Given the description of an element on the screen output the (x, y) to click on. 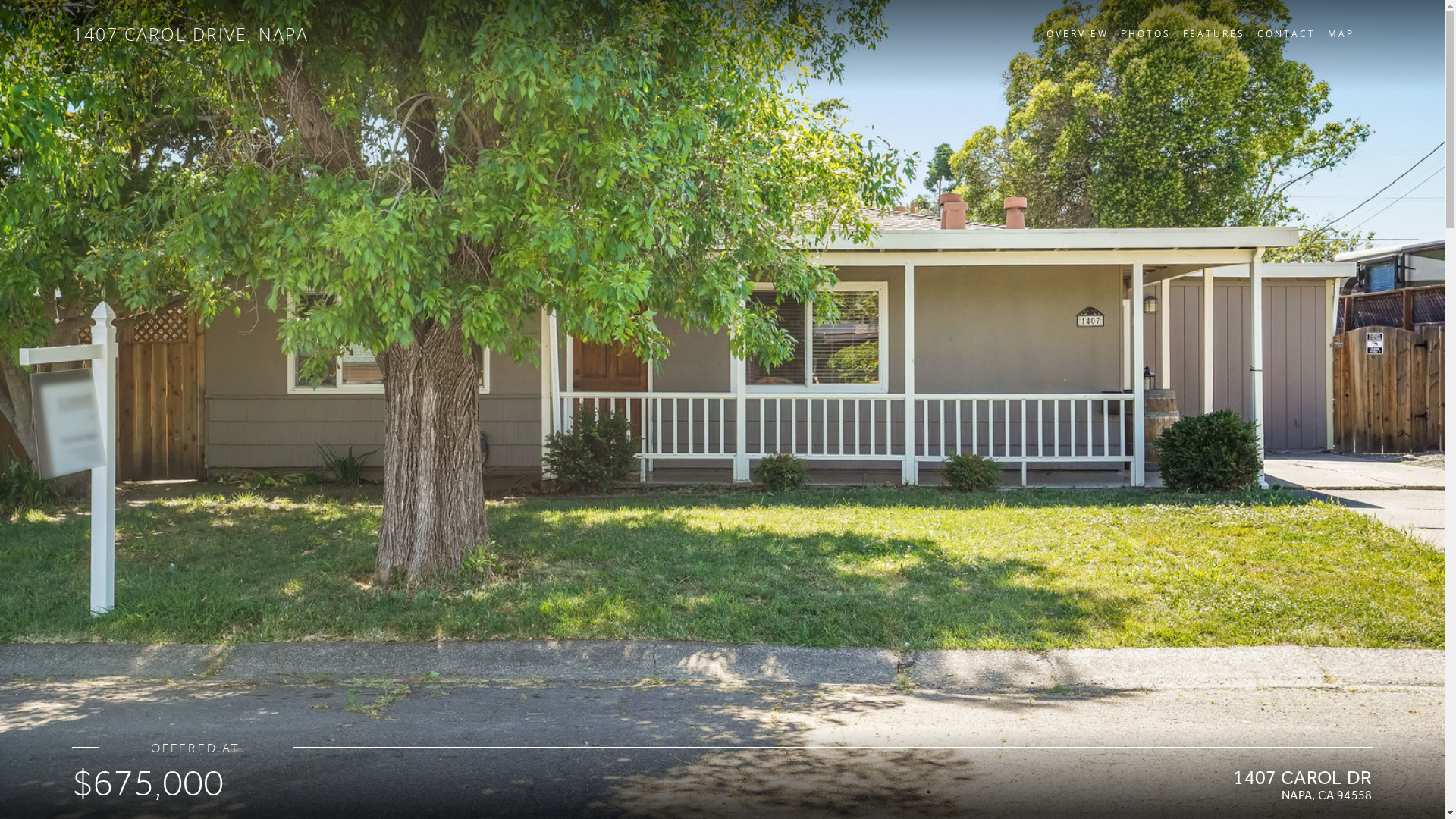
OVERVIEW Element type: text (1077, 33)
PHOTOS Element type: text (1145, 33)
CONTACT Element type: text (1286, 33)
MAP Element type: text (1340, 33)
FEATURES Element type: text (1214, 33)
